Given the description of an element on the screen output the (x, y) to click on. 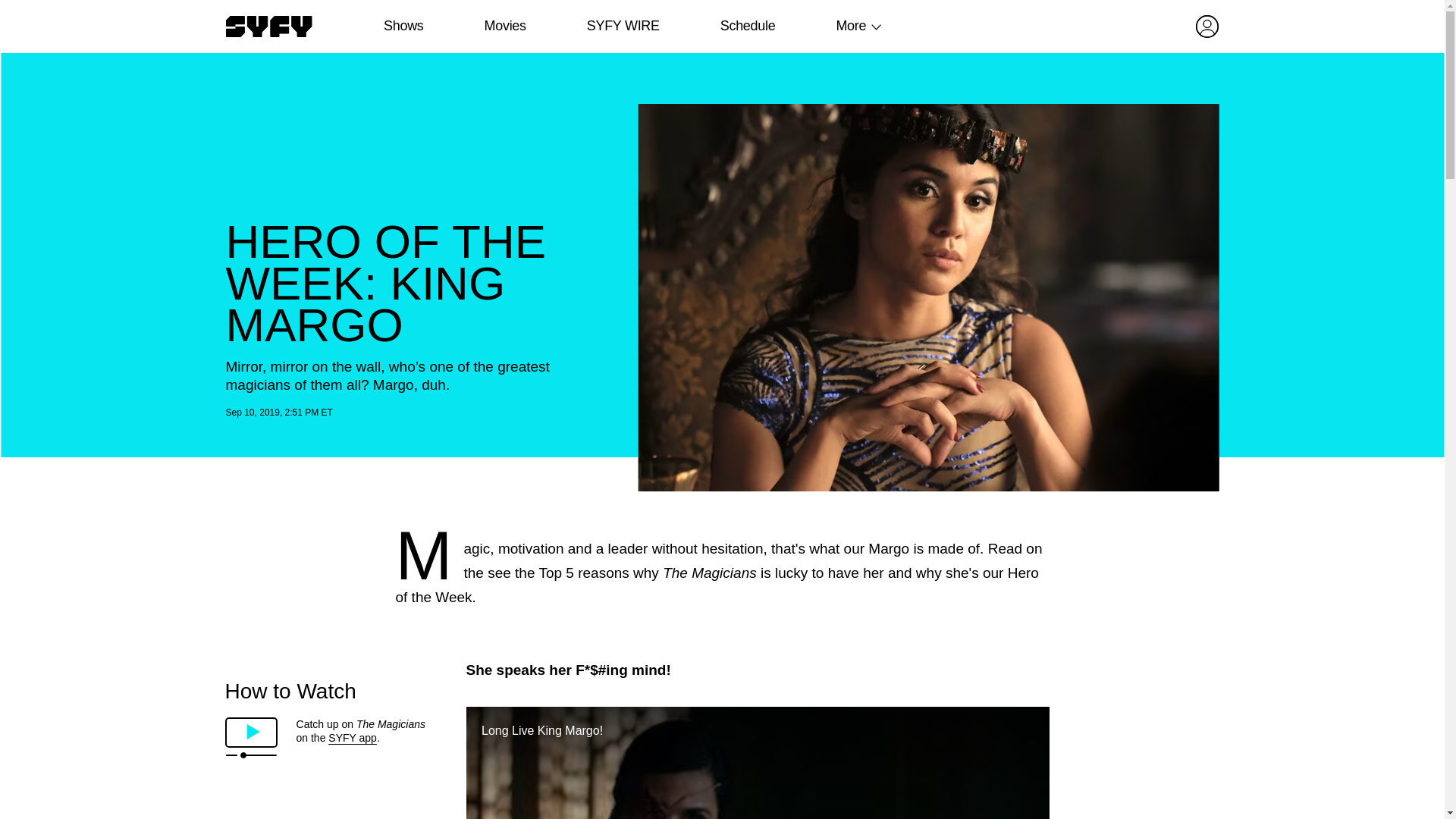
SYFY app (353, 737)
Shows (403, 26)
Schedule (746, 26)
More (850, 26)
SYFY WIRE (622, 26)
Movies (504, 26)
